Given the description of an element on the screen output the (x, y) to click on. 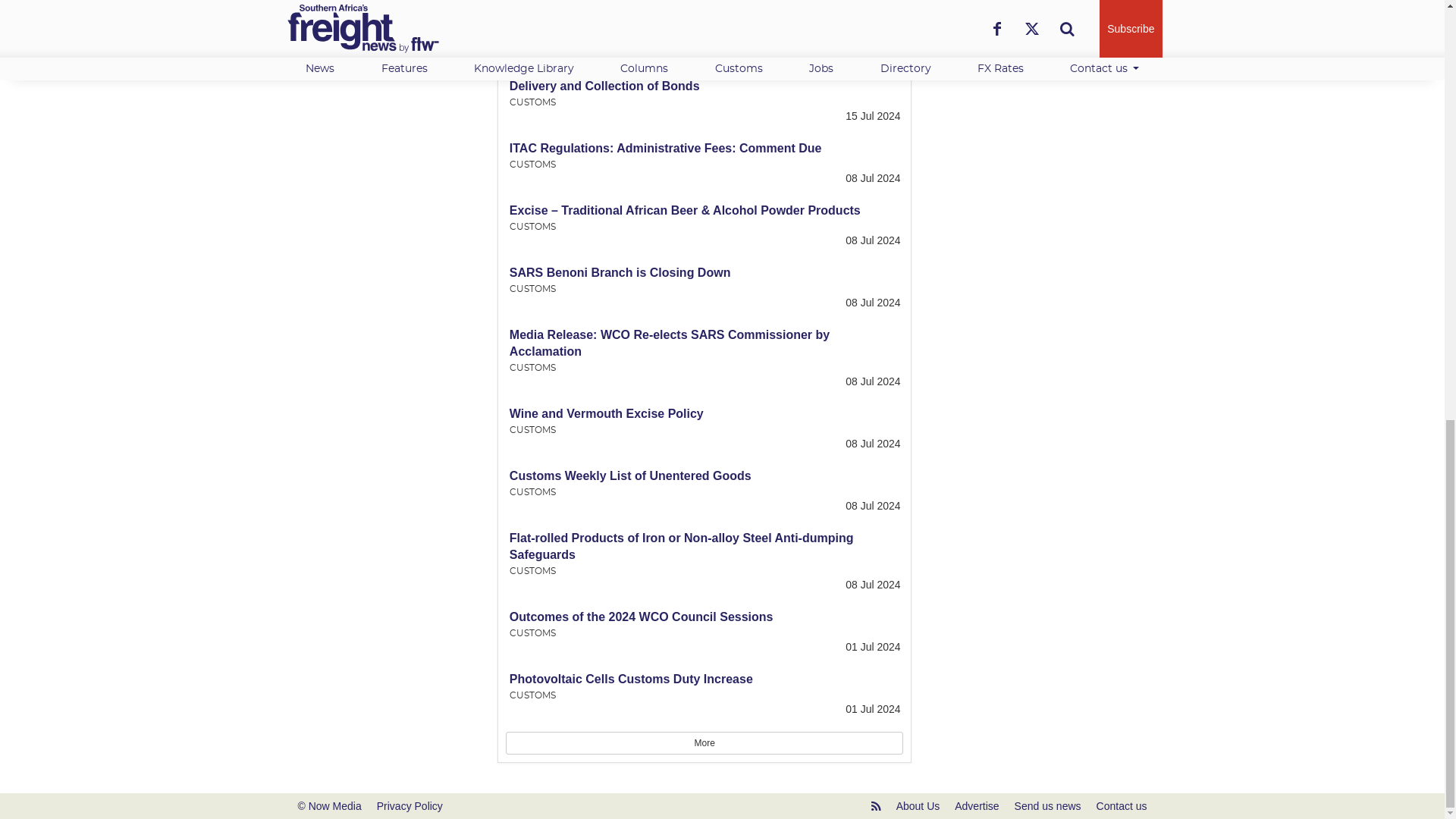
ITAC Regulations: Administrative Fees: Comment Due (665, 147)
Delivery and Collection of Bonds (604, 85)
SARS Benoni Branch is Closing Down (619, 272)
Relocation of SARS Bellville branch (612, 23)
